Given the description of an element on the screen output the (x, y) to click on. 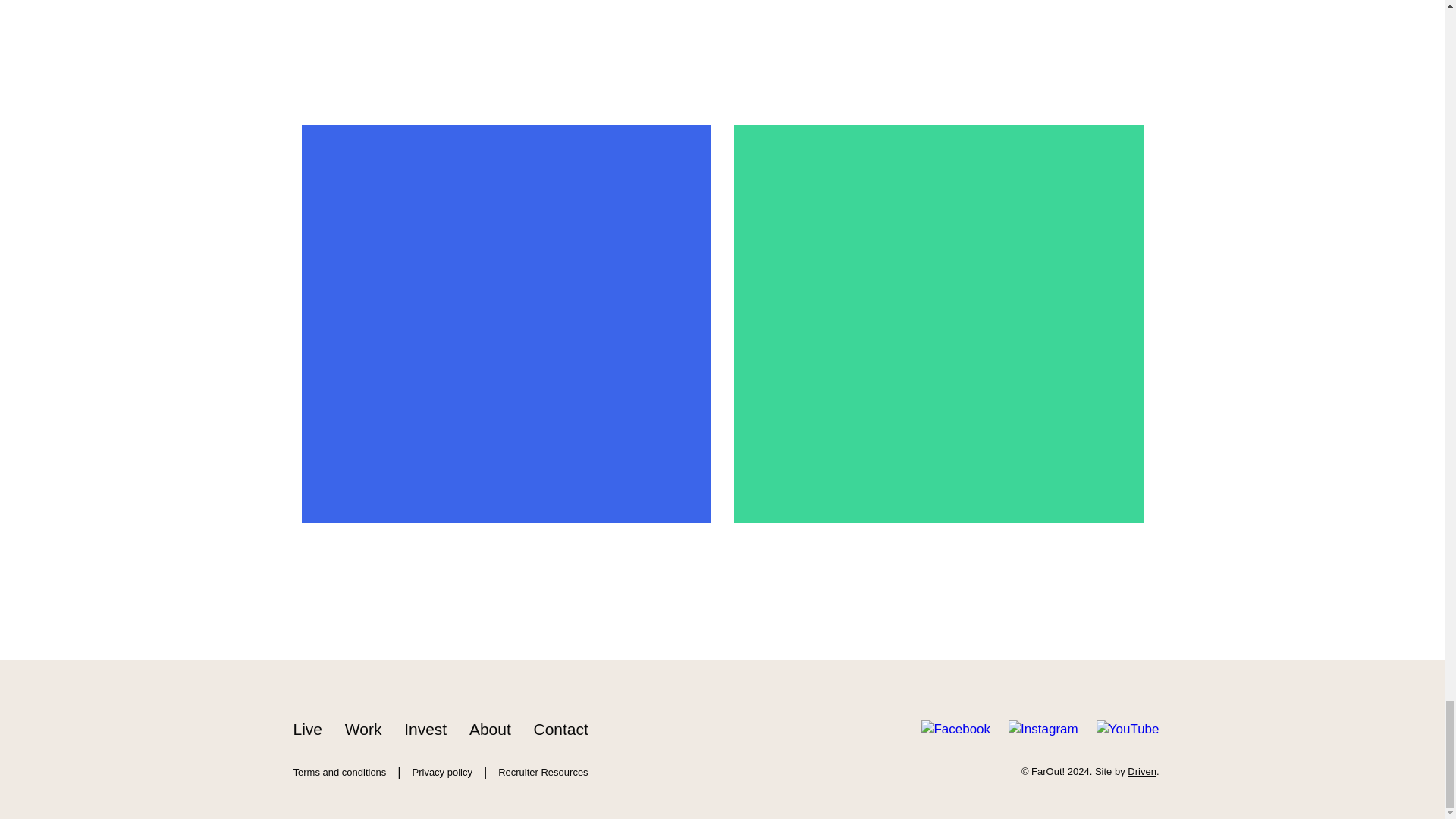
Recruiter Resources (544, 772)
Contact (562, 728)
About (491, 728)
Live (309, 728)
Work (365, 728)
Invest (427, 728)
Privacy policy (443, 772)
Terms and conditions (341, 772)
